Given the description of an element on the screen output the (x, y) to click on. 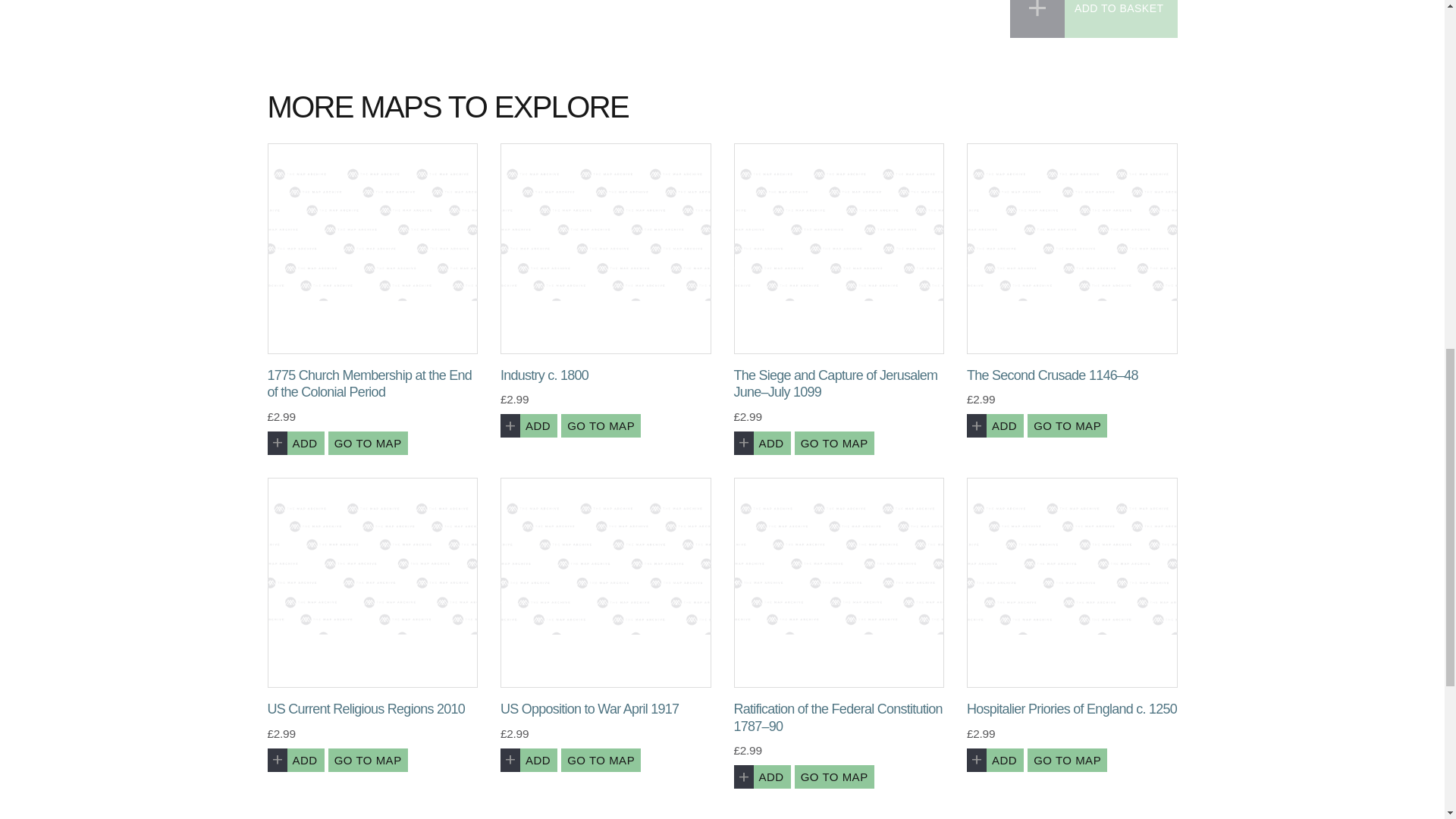
US Opposition to War April 1917 (605, 582)
1775 Church Membership at the End of the Colonial Period (371, 248)
US Current Religious Regions 2010 (371, 582)
Hospitalier Priories of England c. 1250 (1071, 582)
Industry c. 1800 (605, 248)
